Given the description of an element on the screen output the (x, y) to click on. 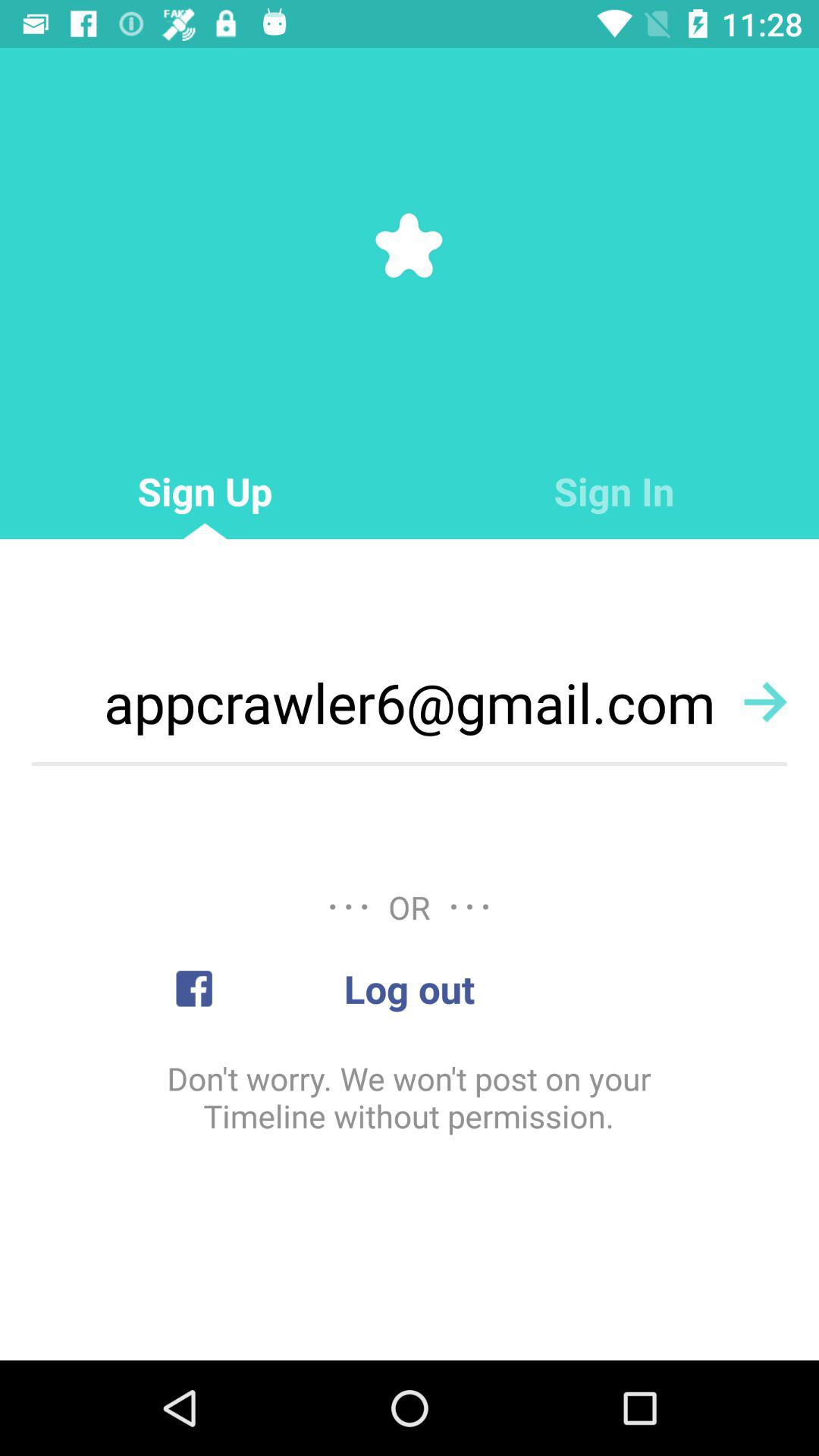
press log out item (409, 988)
